Given the description of an element on the screen output the (x, y) to click on. 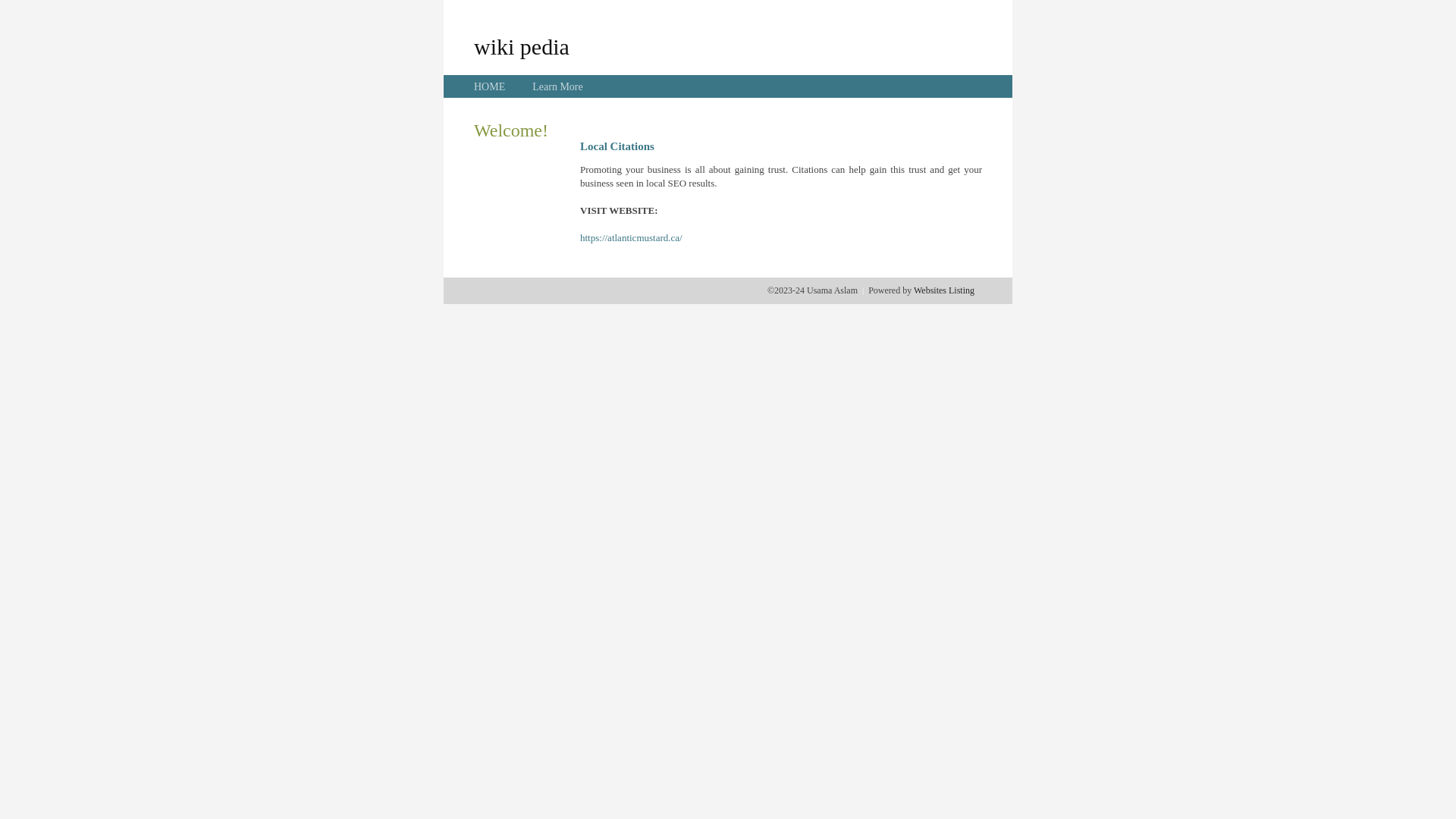
Learn More Element type: text (557, 86)
Websites Listing Element type: text (943, 290)
HOME Element type: text (489, 86)
wiki pedia Element type: text (521, 46)
https://atlanticmustard.ca/ Element type: text (631, 237)
